Given the description of an element on the screen output the (x, y) to click on. 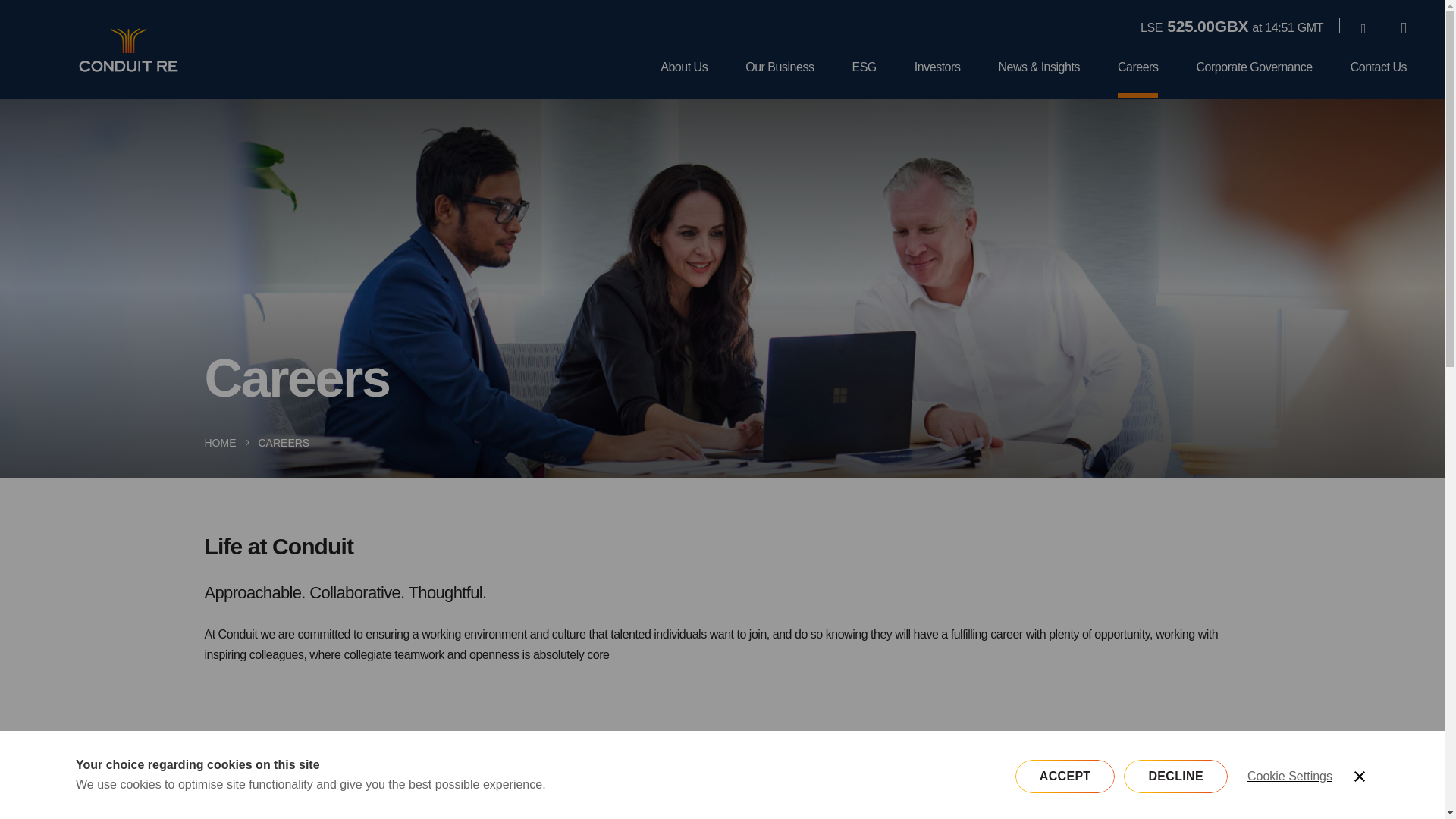
Visit page (1363, 26)
Visit page (721, 787)
Investors (369, 787)
About Us (937, 78)
Visit page (684, 78)
Cookie Settings (1075, 787)
ACCEPT (1288, 789)
Our Business (1064, 814)
DECLINE (779, 78)
